Given the description of an element on the screen output the (x, y) to click on. 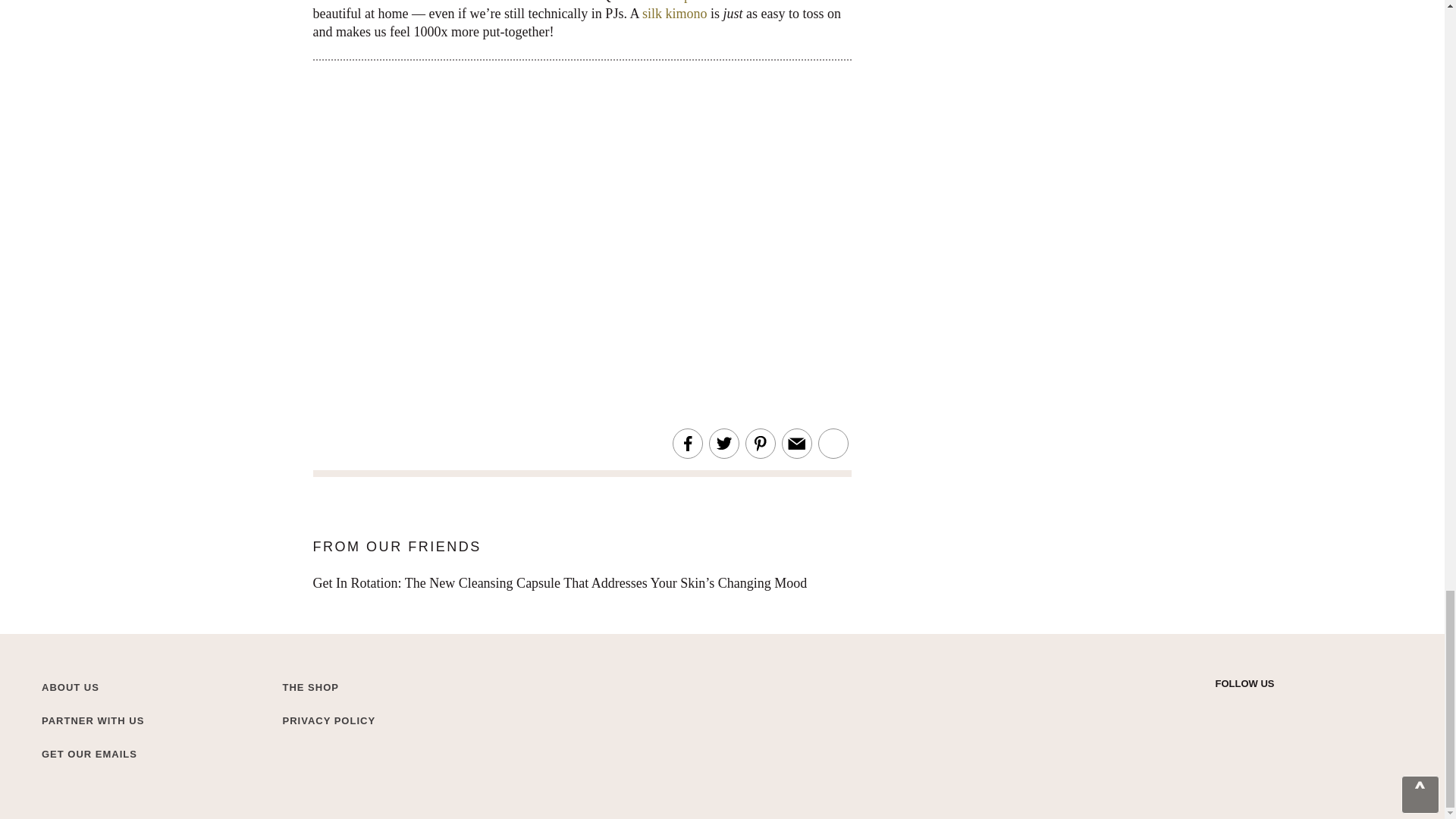
Pinterest (1302, 708)
Facebook (1275, 708)
Share this article on Twitter (724, 443)
Share an image of this article on Pinterest (760, 443)
Email this article (797, 443)
Twitter (1222, 708)
Share this article on Facebook (687, 443)
Instagram (1249, 708)
